Given the description of an element on the screen output the (x, y) to click on. 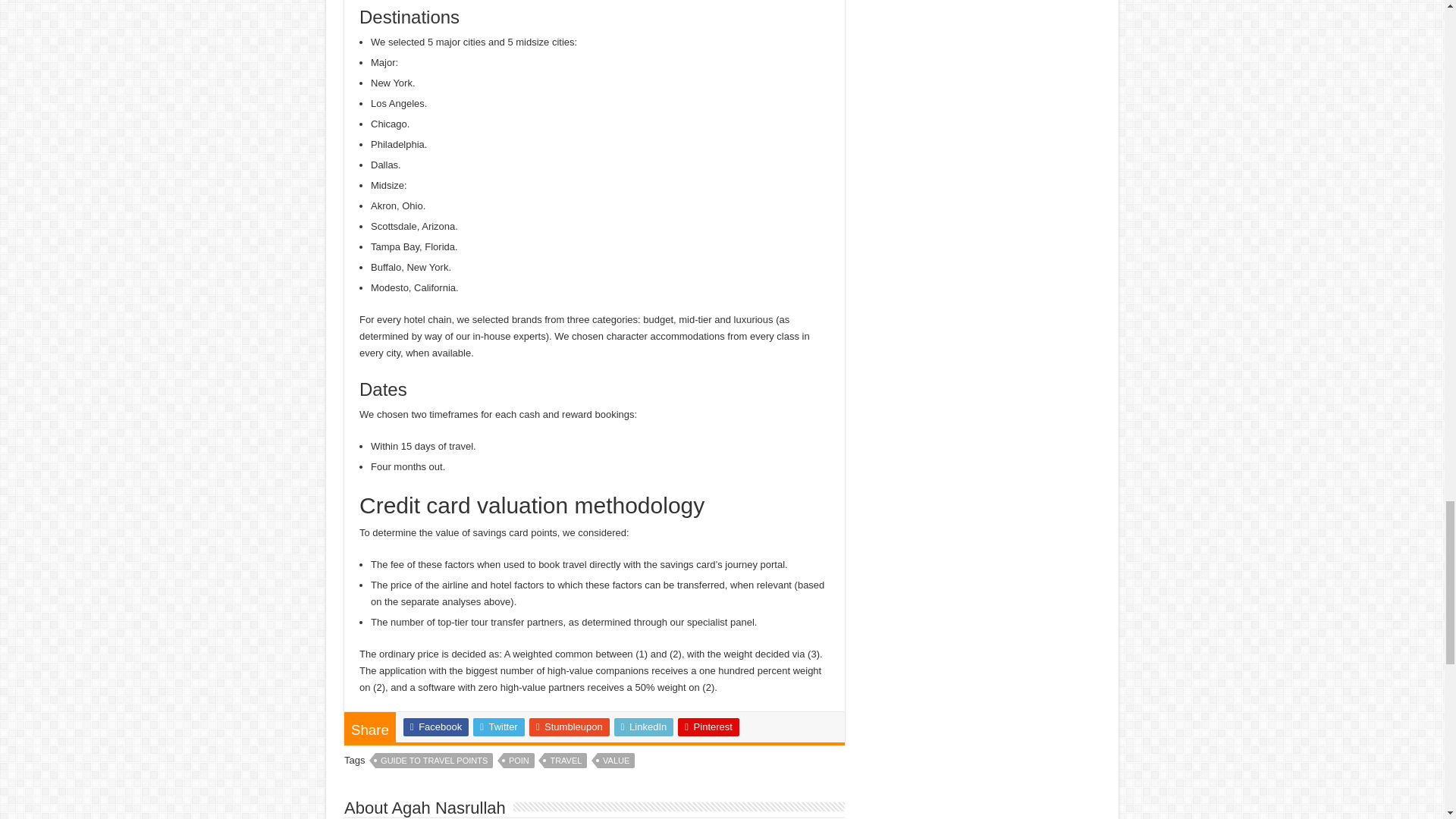
Pinterest (708, 727)
GUIDE TO TRAVEL POINTS (434, 760)
VALUE (615, 760)
TRAVEL (565, 760)
LinkedIn (644, 727)
Facebook (435, 727)
Stumbleupon (569, 727)
Twitter (498, 727)
POIN (518, 760)
